Given the description of an element on the screen output the (x, y) to click on. 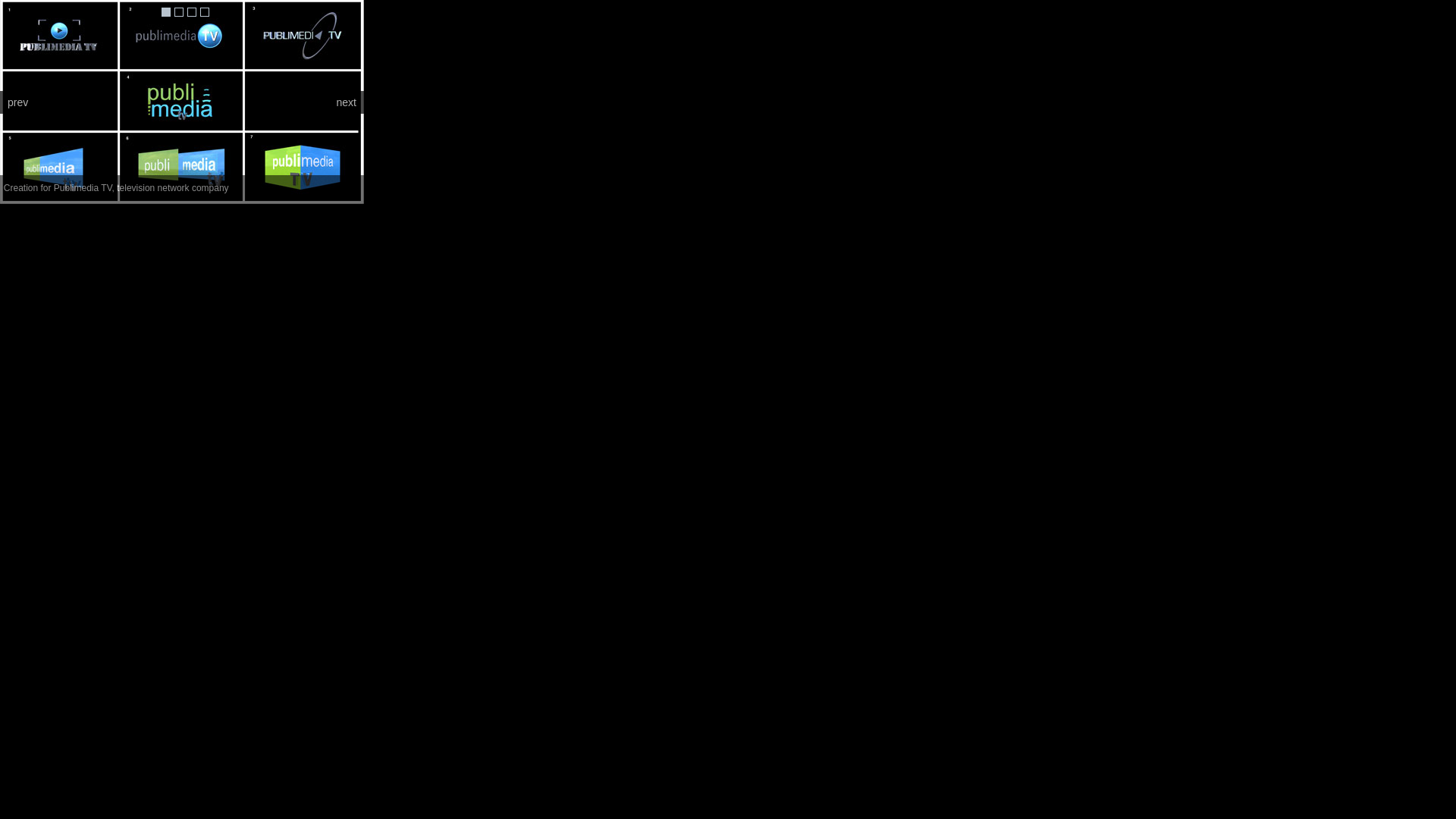
3D logo design Element type: hover (191, 11)
next Element type: text (346, 102)
3D logo design Element type: hover (204, 11)
Creation for Publimedia TV, television network company Element type: hover (182, 102)
3D logo design Element type: hover (178, 11)
3designworld Element type: text (333, 197)
3D logo design Element type: hover (165, 11)
prev Element type: text (17, 102)
